Given the description of an element on the screen output the (x, y) to click on. 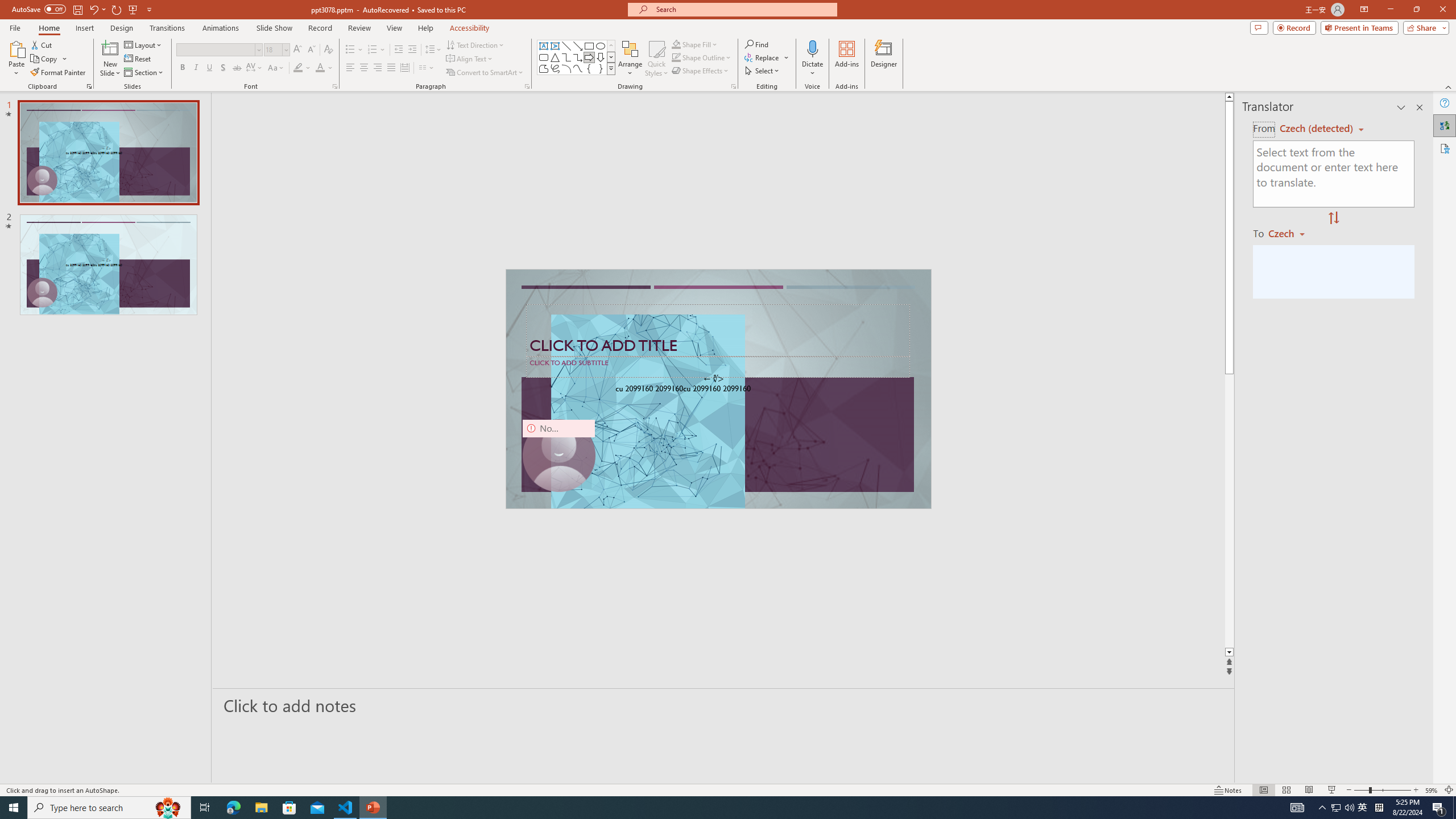
Subtitle TextBox (717, 366)
